Given the description of an element on the screen output the (x, y) to click on. 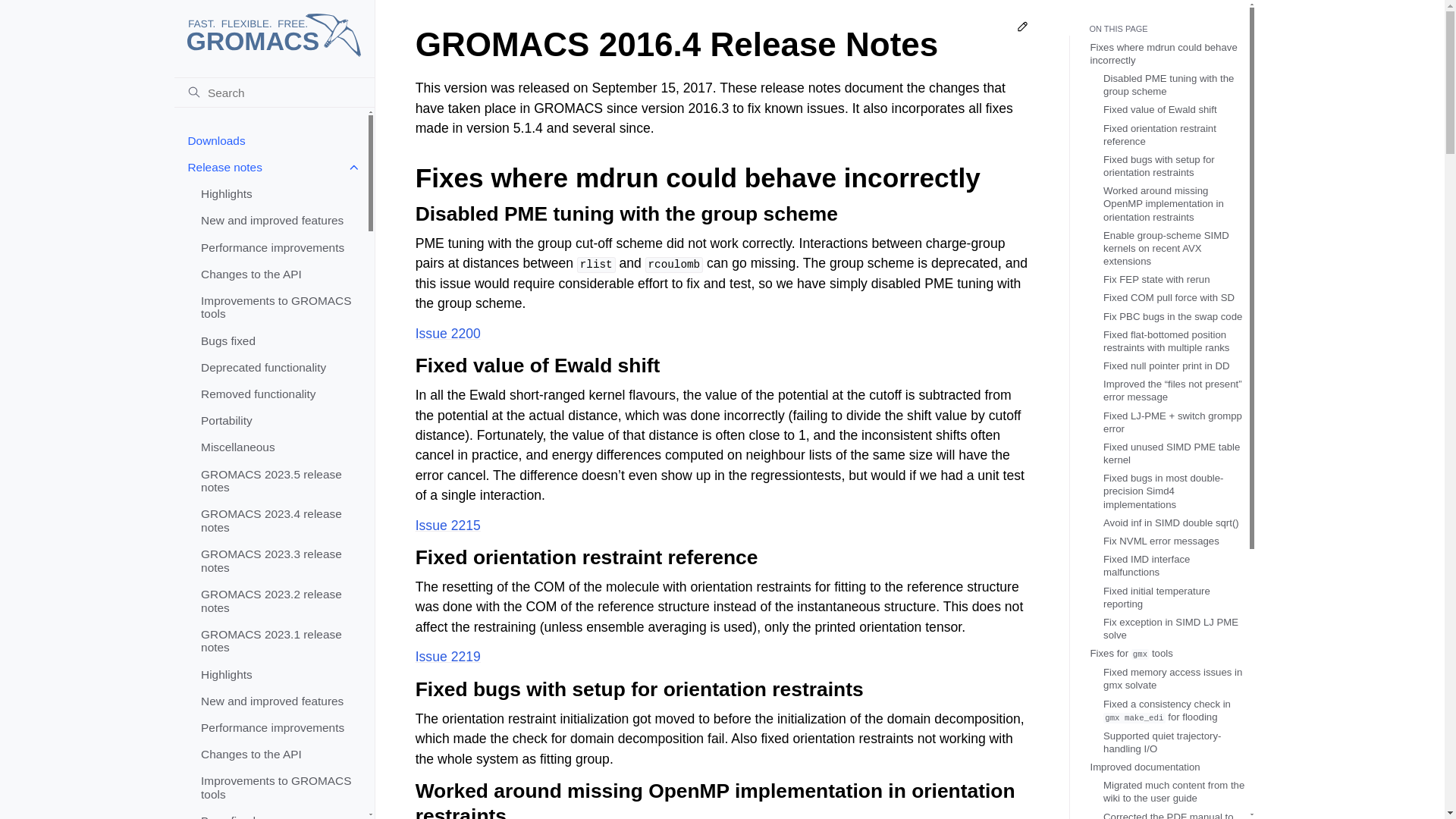
Bugs fixed (276, 813)
GROMACS 2023.4 release notes (276, 521)
Edit this page (1022, 28)
Changes to the API (276, 754)
Improvements to GROMACS tools (276, 787)
Performance improvements (276, 727)
GROMACS 2023.5 release notes (276, 481)
Bugs fixed (276, 340)
Downloads (270, 140)
Removed functionality (276, 393)
